Given the description of an element on the screen output the (x, y) to click on. 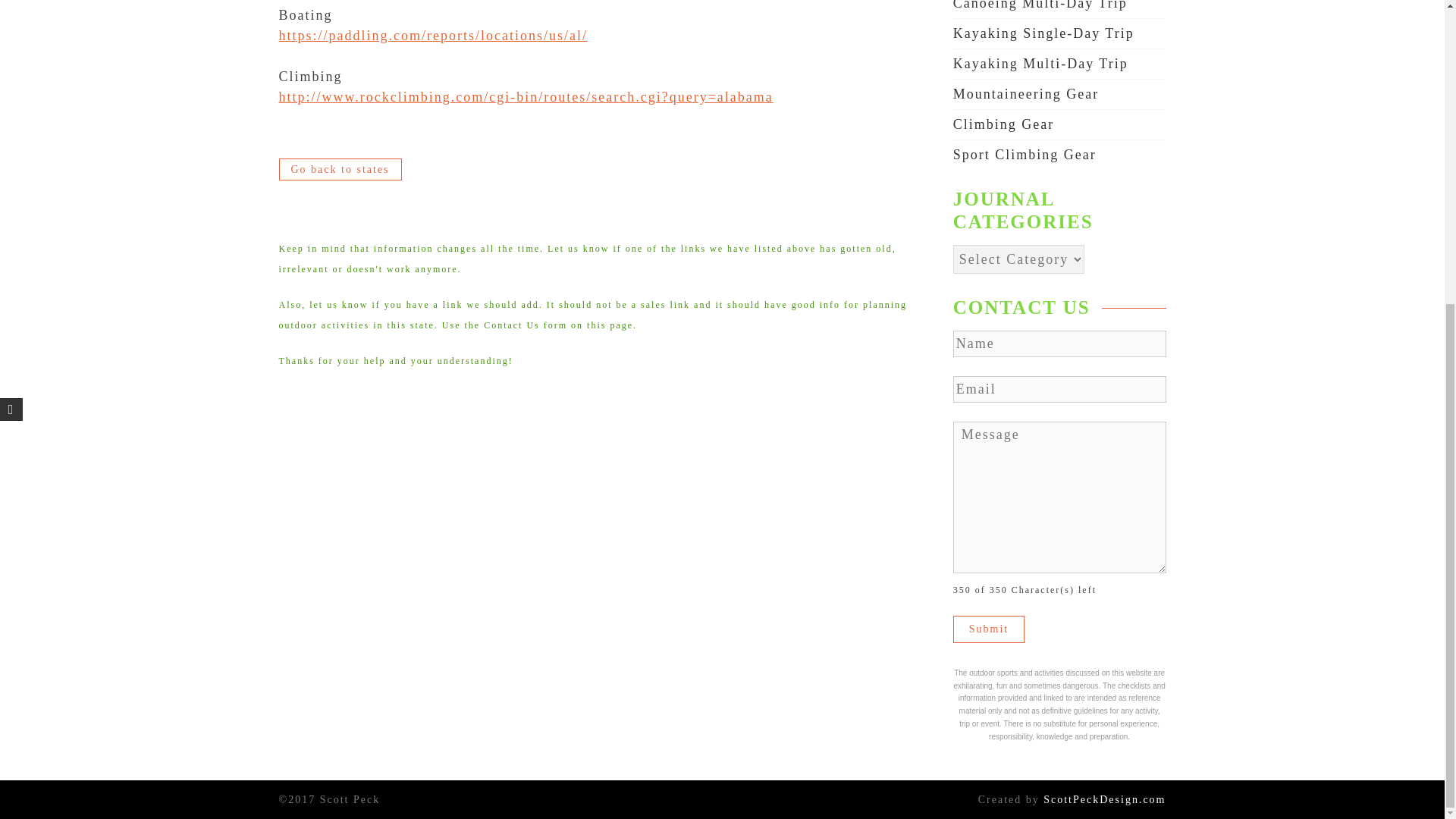
Go back to states (340, 169)
Canoeing Multi-Day Trip (1039, 5)
ScottPeckDesign.com (1104, 799)
Climbing Gear (1003, 124)
Sport Climbing Gear (1024, 154)
Mountaineering Gear (1026, 93)
Kayaking Multi-Day Trip (1040, 63)
Submit (989, 628)
Submit (989, 628)
Kayaking Single-Day Trip (1043, 32)
